Given the description of an element on the screen output the (x, y) to click on. 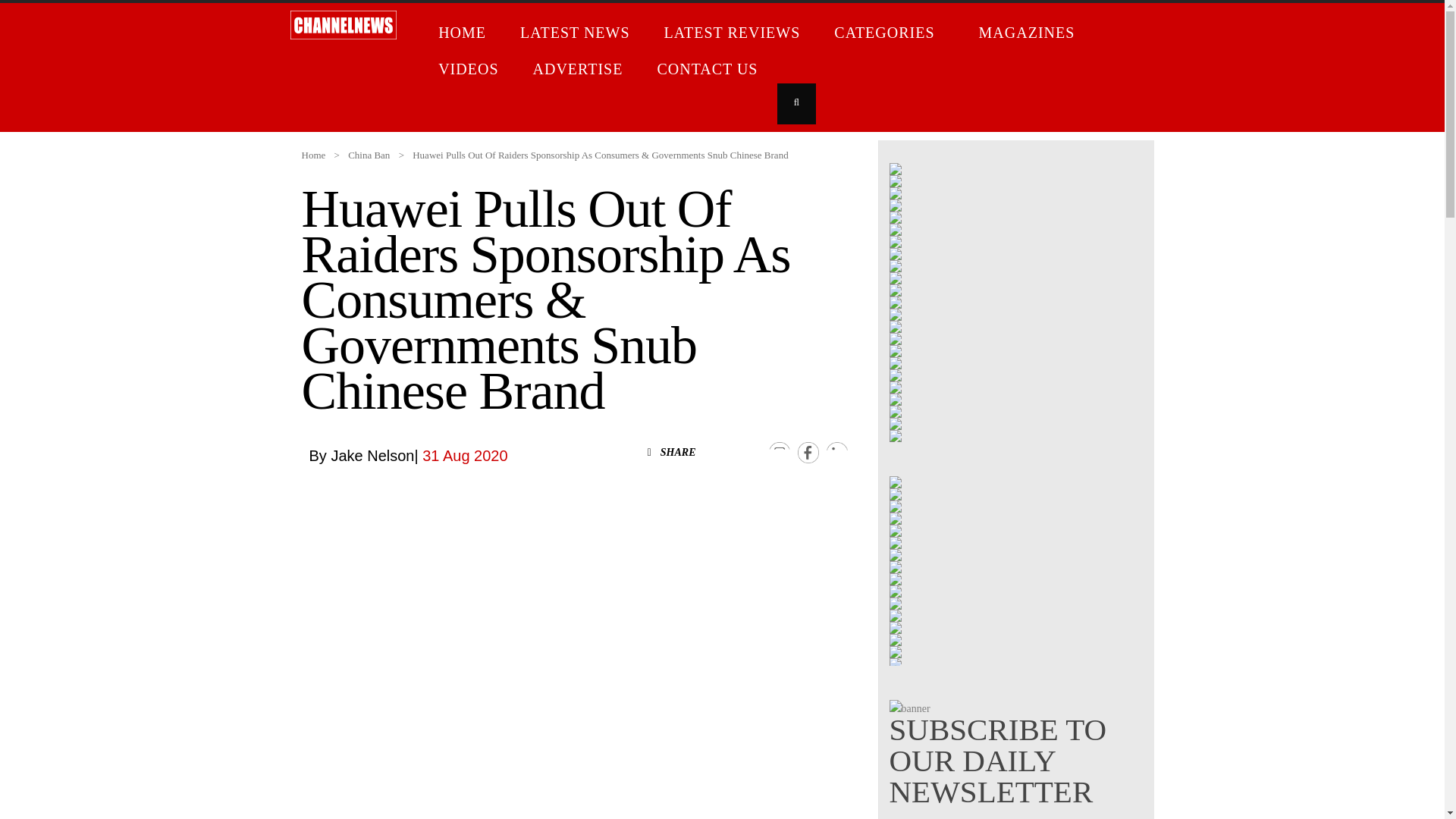
HOME (464, 34)
LATEST REVIEWS (734, 34)
LATEST NEWS (577, 34)
MAGAZINES (1028, 34)
Posts by Jake Nelson (371, 455)
CATEGORIES (890, 34)
